Given the description of an element on the screen output the (x, y) to click on. 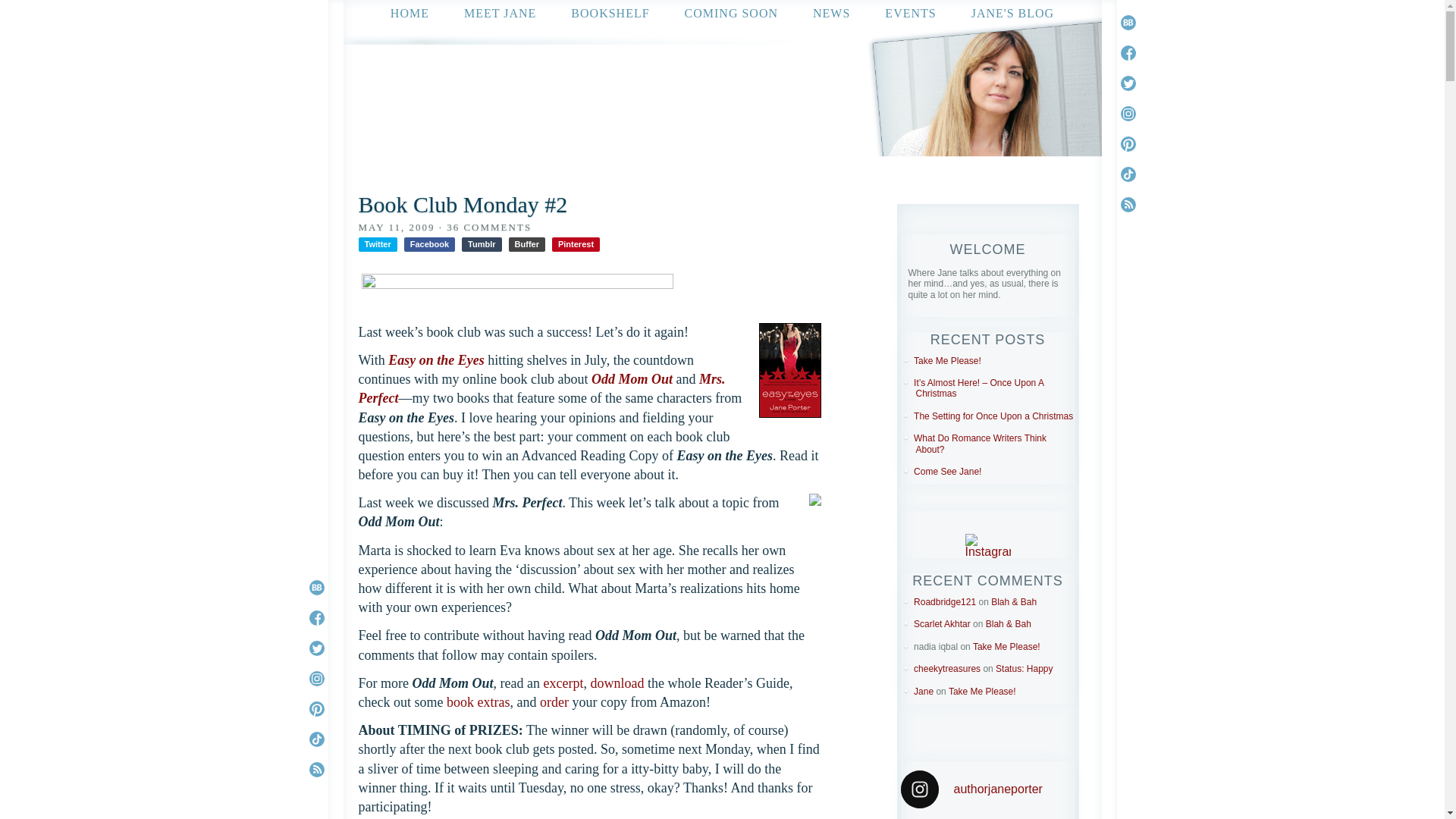
HOME (409, 12)
Pinterest (575, 244)
Easy on the Eyes (436, 359)
Tumblr (480, 244)
MEET JANE (499, 12)
Buffer (526, 244)
Twitter (377, 244)
Odd Mom Out (631, 378)
BOOKSHELF (609, 12)
COMING SOON (730, 12)
